Given the description of an element on the screen output the (x, y) to click on. 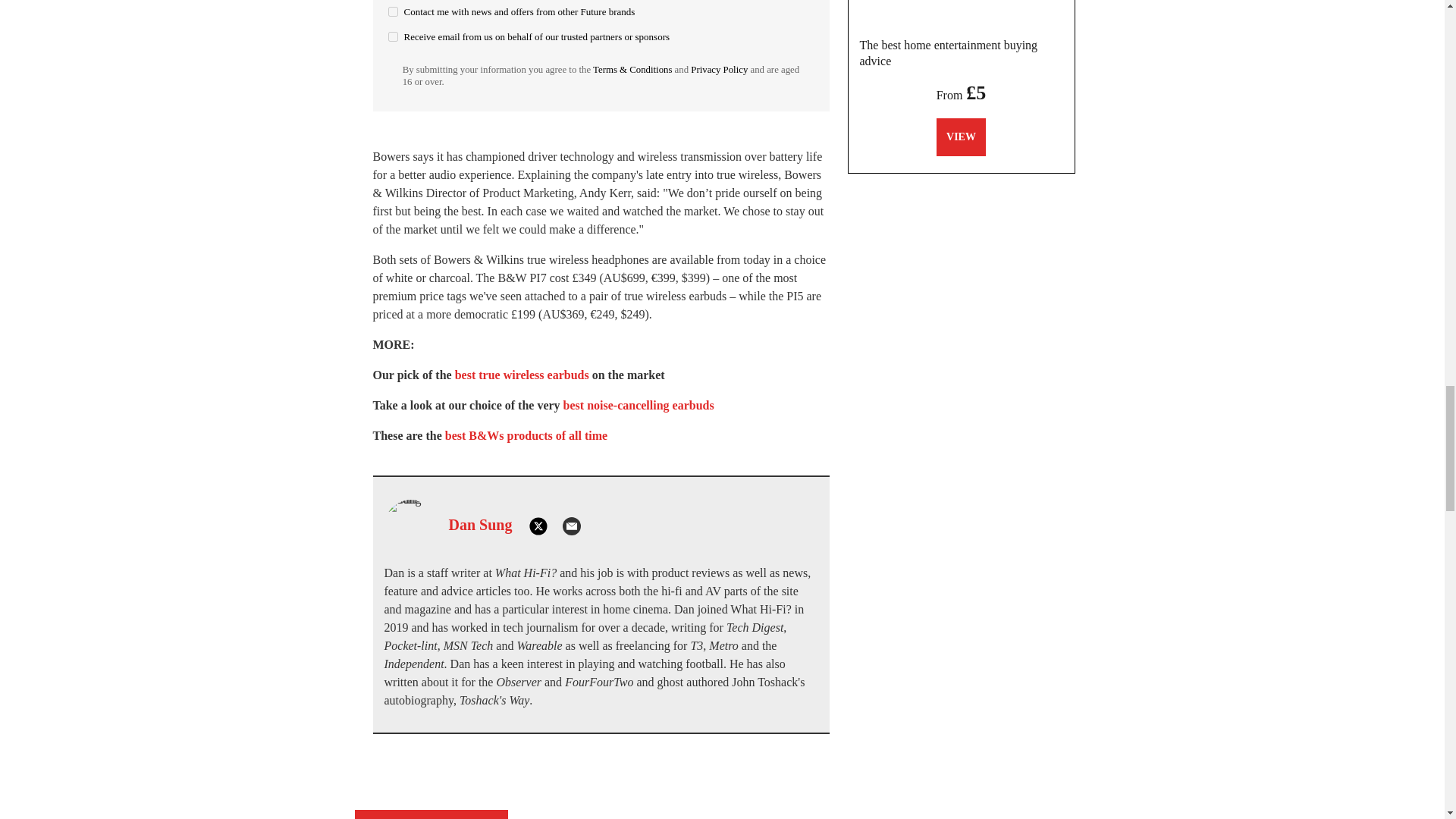
What Hi-Fi Magazine... (960, 13)
on (392, 11)
on (392, 36)
